Given the description of an element on the screen output the (x, y) to click on. 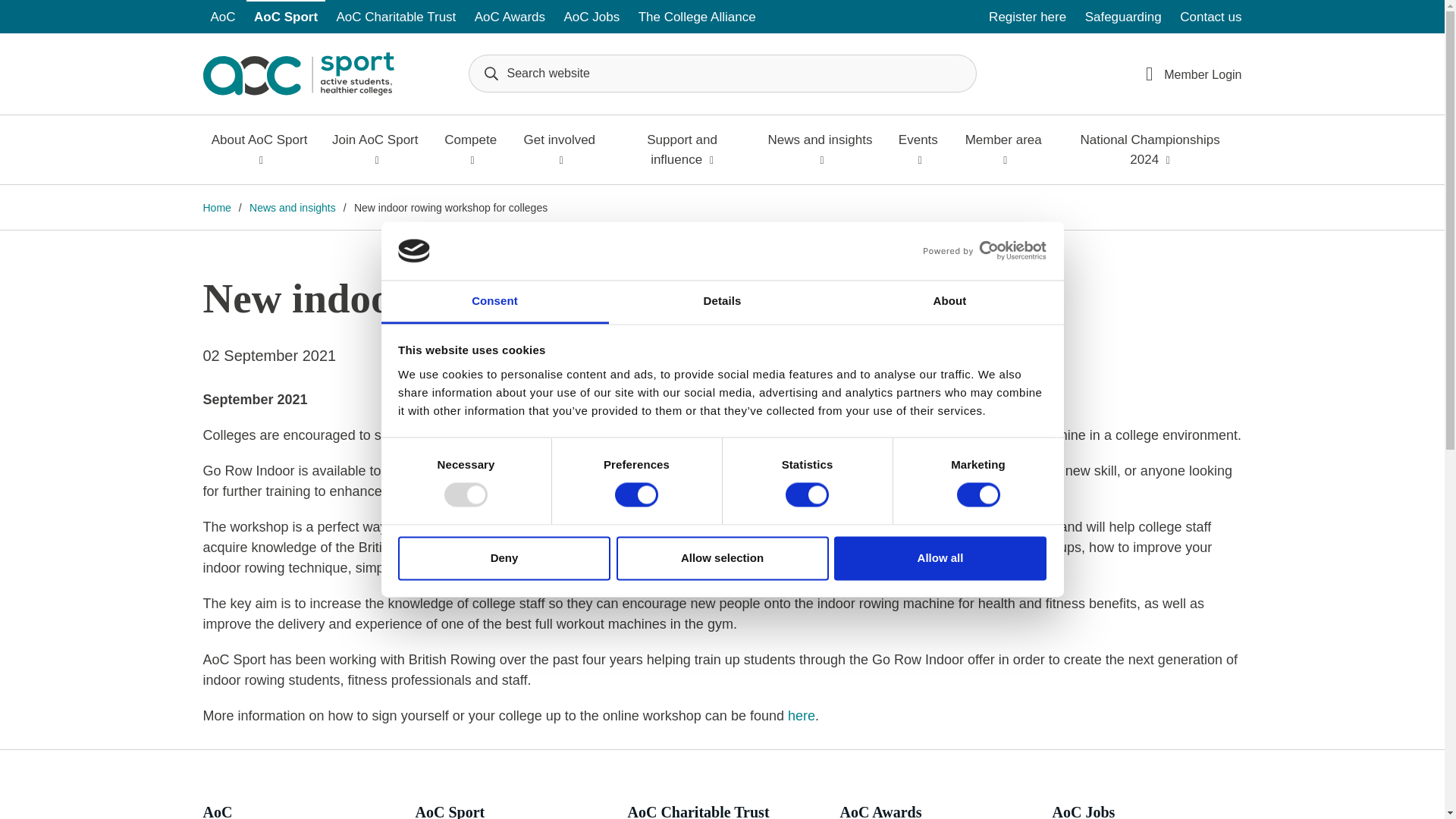
Details (721, 301)
About (948, 301)
Consent (494, 301)
